Given the description of an element on the screen output the (x, y) to click on. 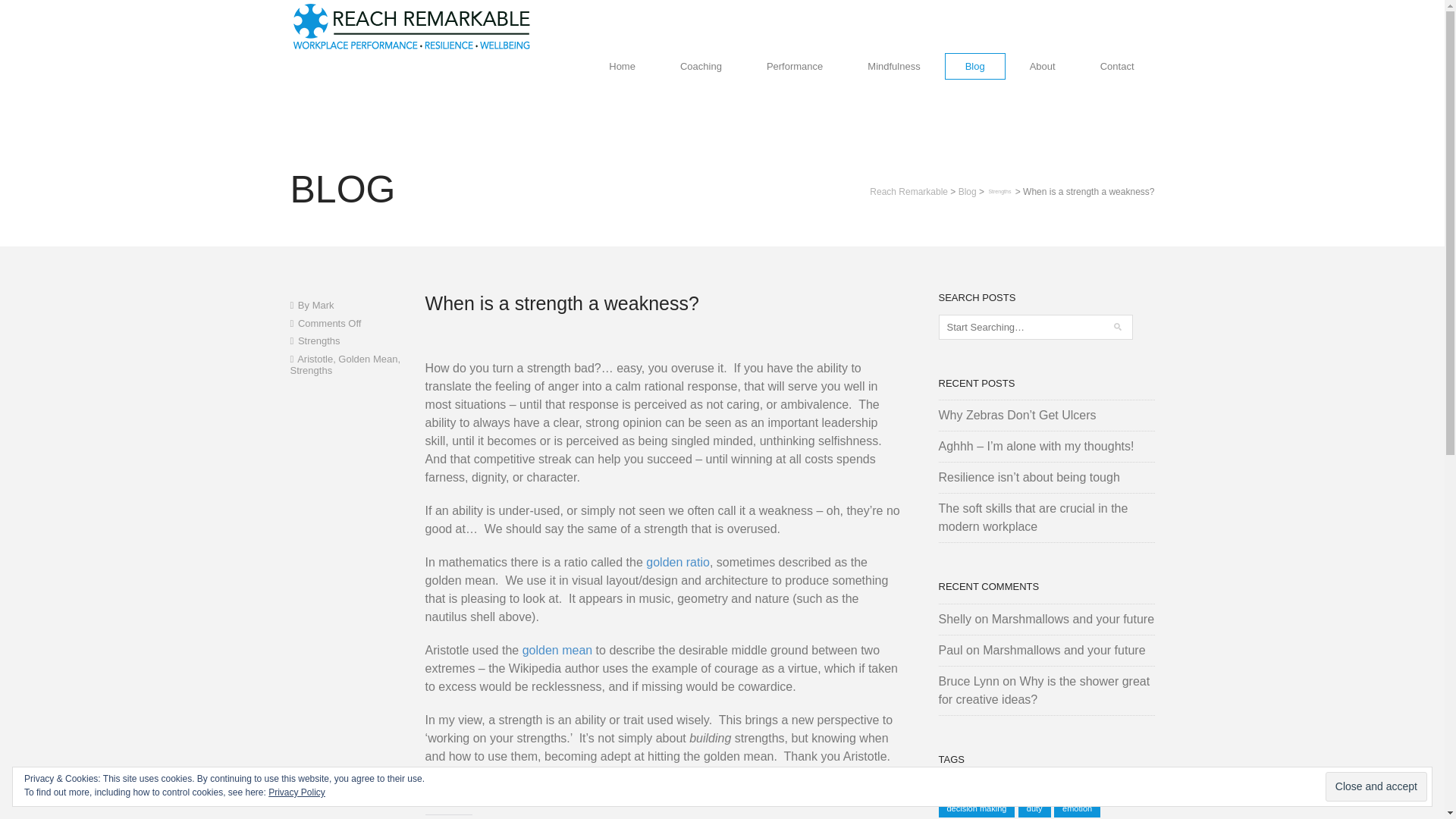
Mark (323, 305)
Reach Remarkable (908, 191)
Contact (1117, 66)
Aristotle (315, 358)
decision making (976, 808)
Mindfulness (893, 66)
duty (1034, 808)
Strengths (319, 340)
Reach Remarkable Home (622, 66)
Posts by Mark (323, 305)
covid (1006, 785)
Blog (967, 191)
Performance (794, 66)
Reach Remarkable (410, 23)
The soft skills that are crucial in the modern workplace (1033, 517)
